Given the description of an element on the screen output the (x, y) to click on. 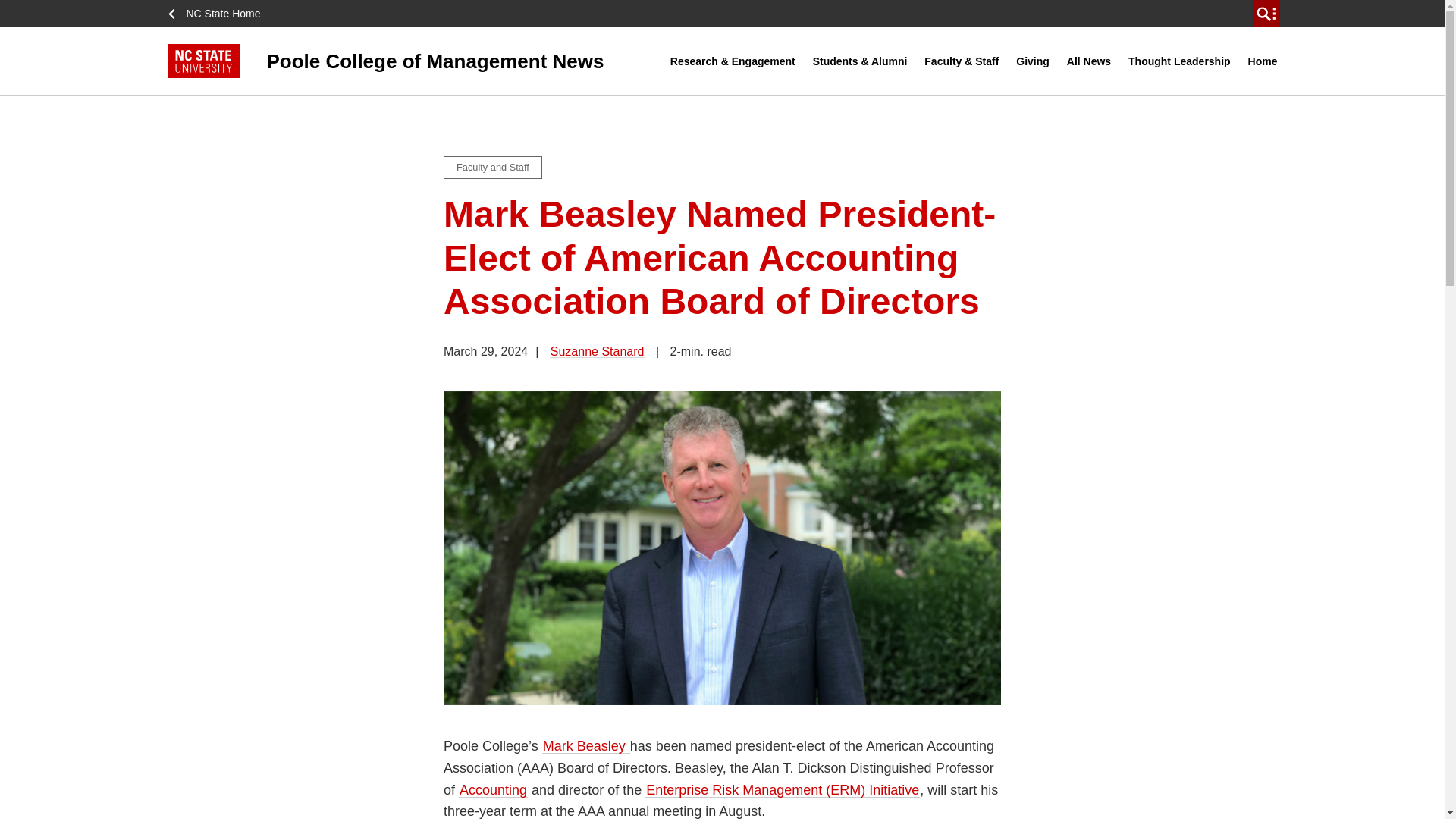
Home (1262, 61)
Poole College of Management News (418, 61)
NC State Home (217, 13)
All News (1088, 61)
Posts by Suzanne Stanard (597, 350)
Thought Leadership (1179, 61)
Giving (1033, 61)
